Given the description of an element on the screen output the (x, y) to click on. 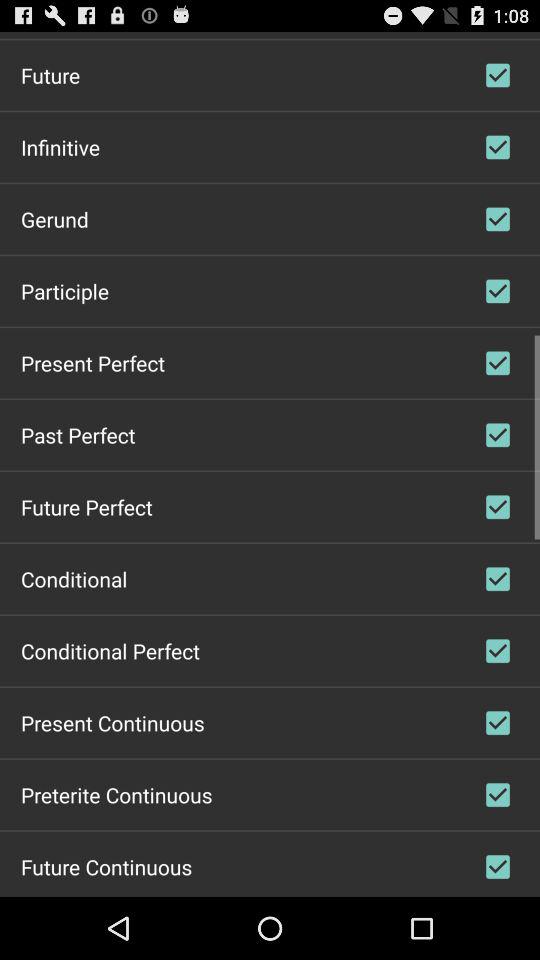
jump until the conditional perfect (110, 650)
